Given the description of an element on the screen output the (x, y) to click on. 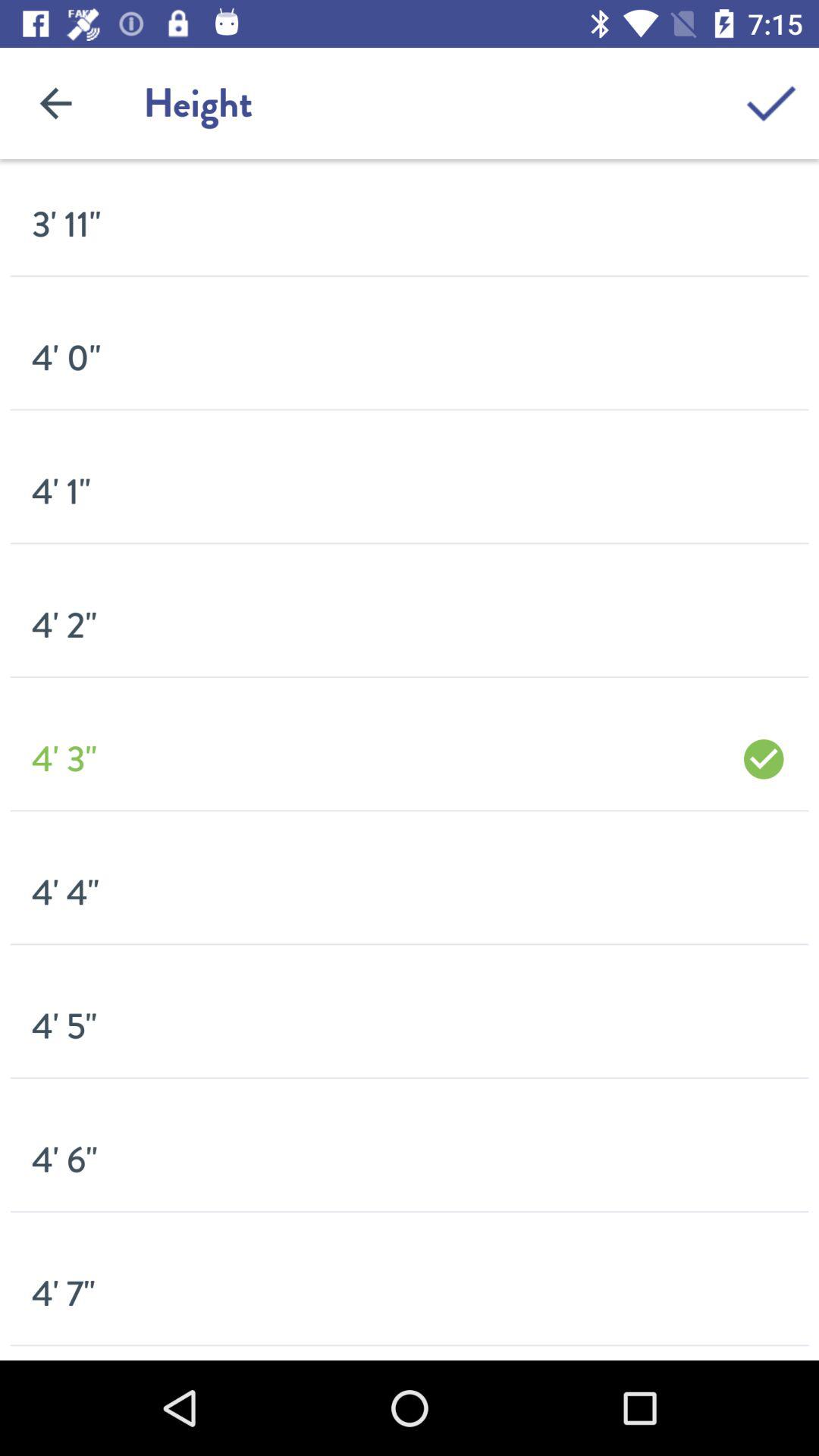
choose item next to height (771, 103)
